Given the description of an element on the screen output the (x, y) to click on. 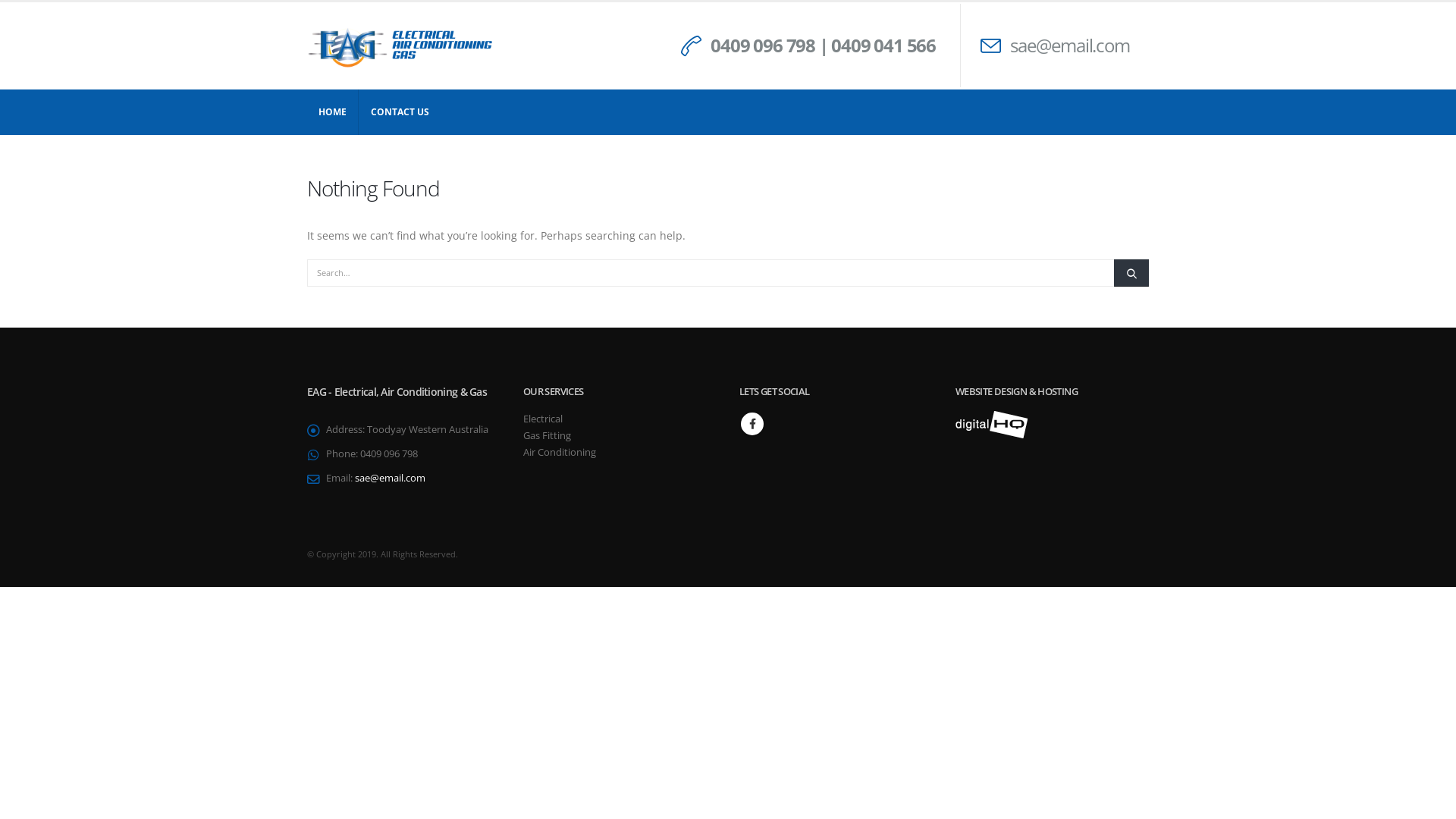
0409 041 566 Element type: text (883, 44)
sae@email.com Element type: text (1069, 44)
Facebook Element type: text (751, 423)
0409 096 798 Element type: text (762, 44)
CONTACT US Element type: text (399, 111)
HOME Element type: text (332, 111)
sae@email.com Element type: text (389, 477)
